Given the description of an element on the screen output the (x, y) to click on. 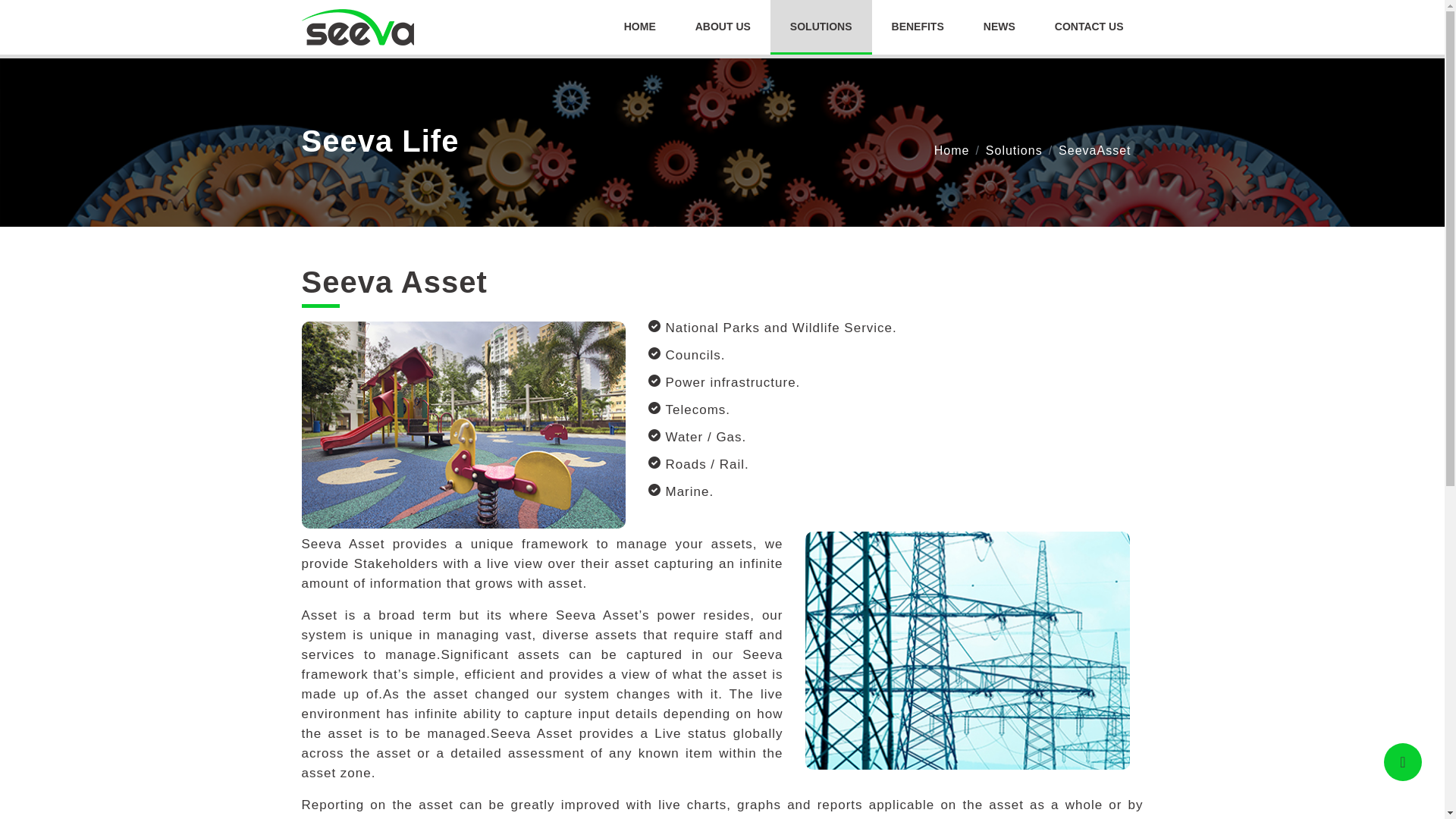
SeevaAsset (1094, 150)
Home (951, 150)
NEWS (999, 26)
CONTACT US (1088, 26)
HOME (639, 26)
SOLUTIONS (784, 27)
ABOUT US (821, 26)
Solutions (722, 26)
BENEFITS (1013, 150)
